Given the description of an element on the screen output the (x, y) to click on. 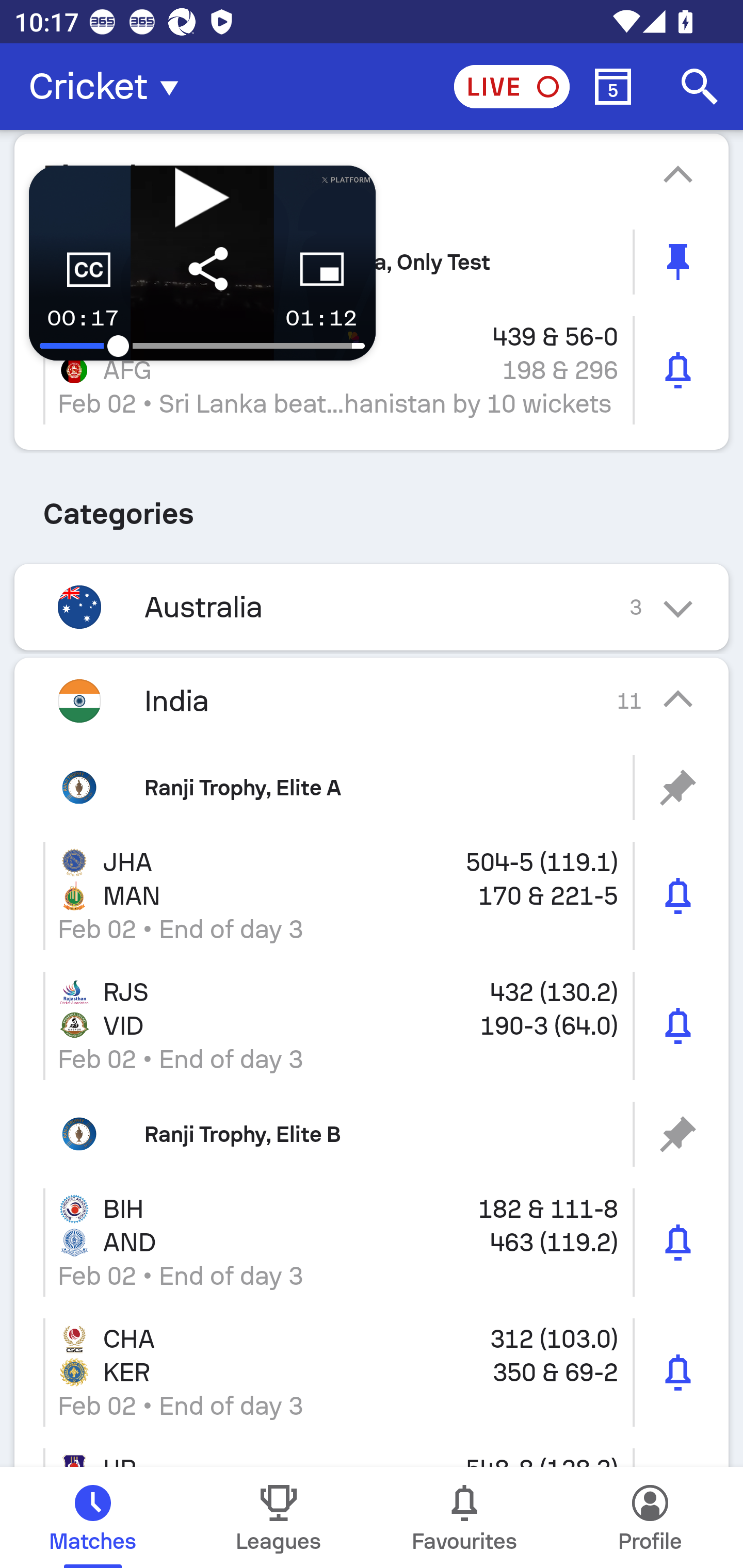
Cricket (109, 86)
Calendar (612, 86)
Search (699, 86)
Categories (371, 506)
Australia 3 (371, 607)
India 11 (371, 700)
Ranji Trophy, Elite A (371, 787)
Ranji Trophy, Elite B (371, 1134)
Leagues (278, 1517)
Favourites (464, 1517)
Profile (650, 1517)
